Given the description of an element on the screen output the (x, y) to click on. 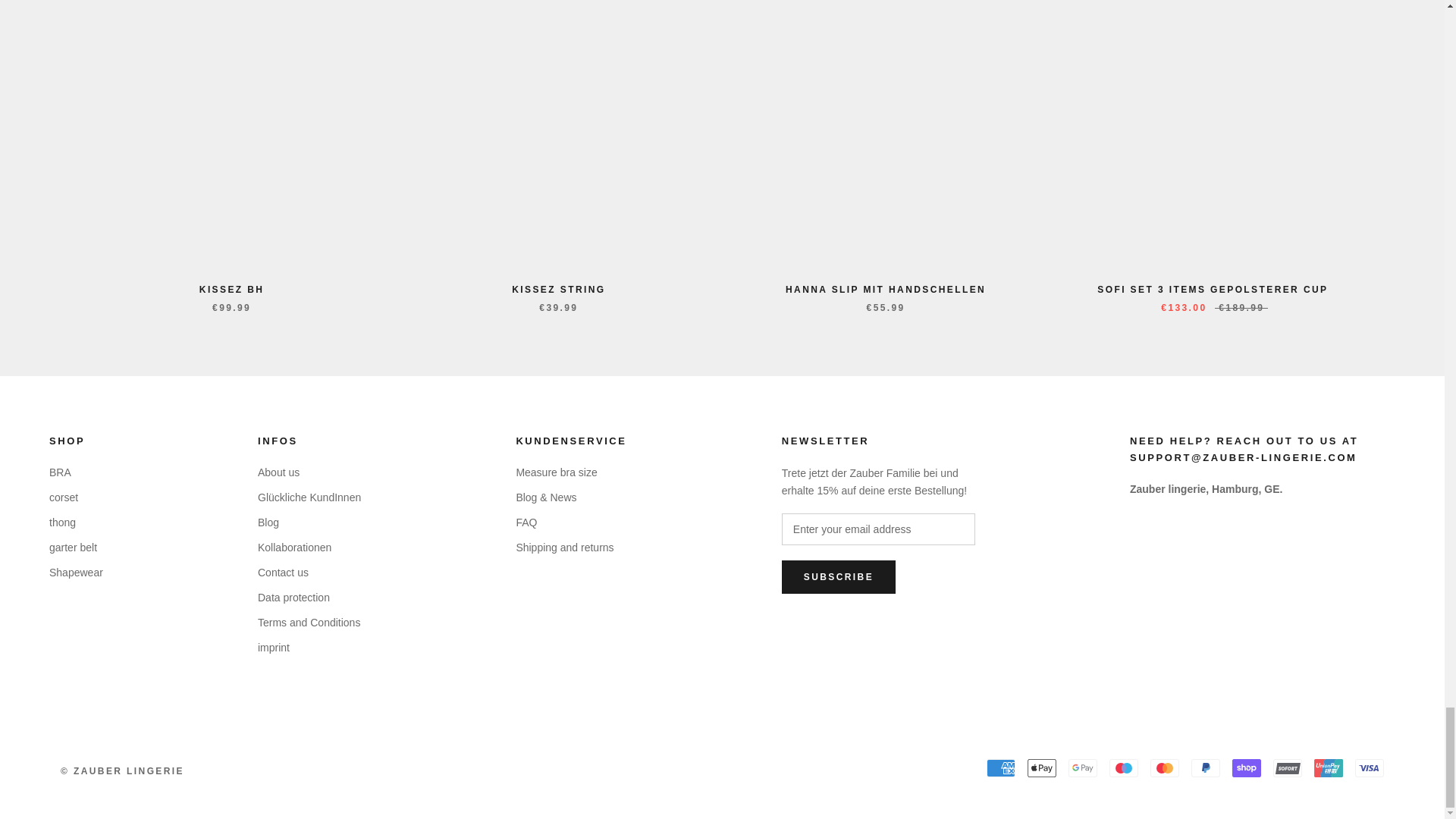
PayPal (1205, 768)
SOFORT (1286, 768)
Mastercard (1164, 768)
Apple Pay (1042, 768)
Shop Pay (1245, 768)
Google Pay (1082, 768)
American Express (1000, 768)
Maestro (1123, 768)
